Given the description of an element on the screen output the (x, y) to click on. 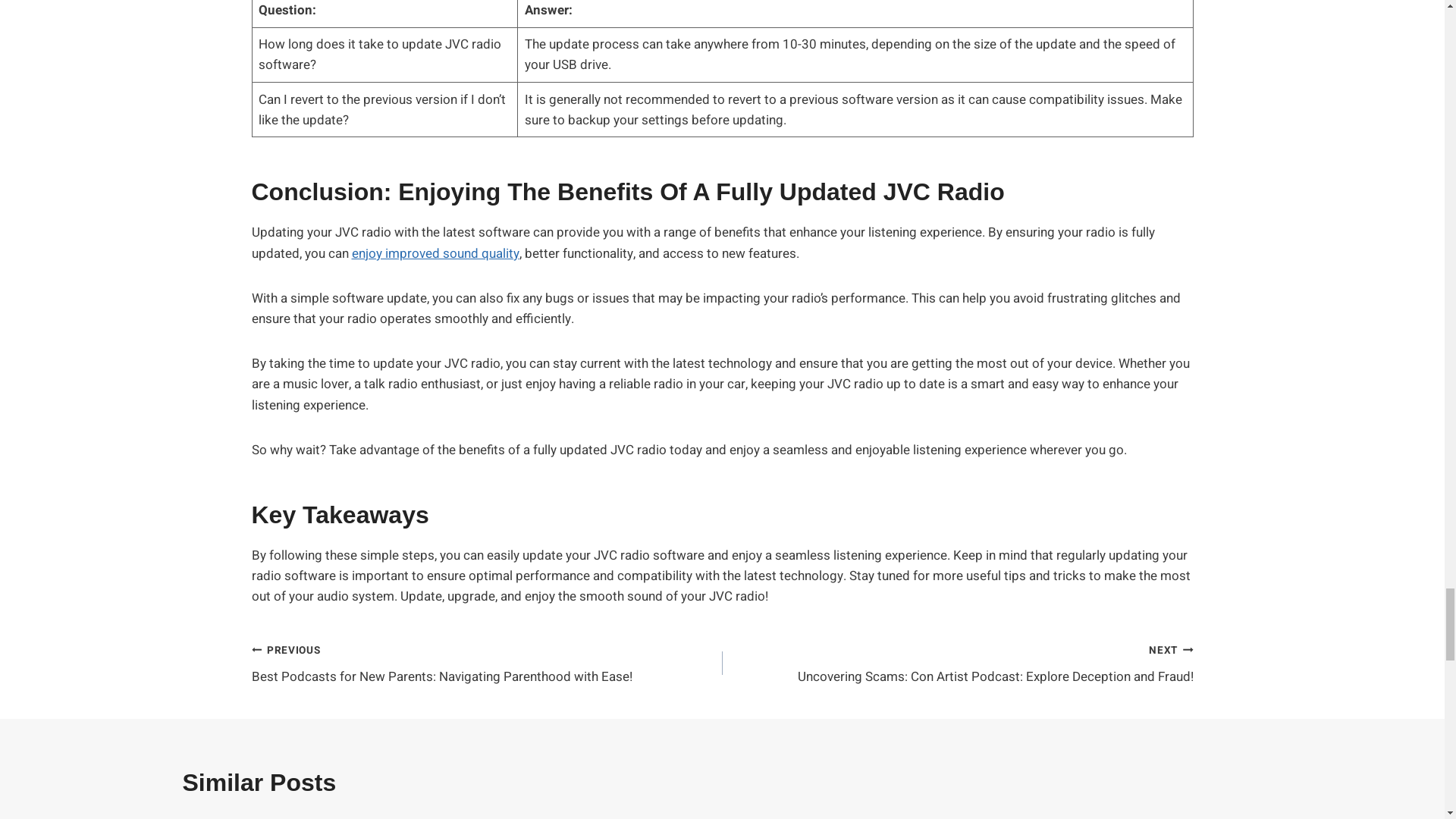
enjoy improved sound quality (435, 253)
